Given the description of an element on the screen output the (x, y) to click on. 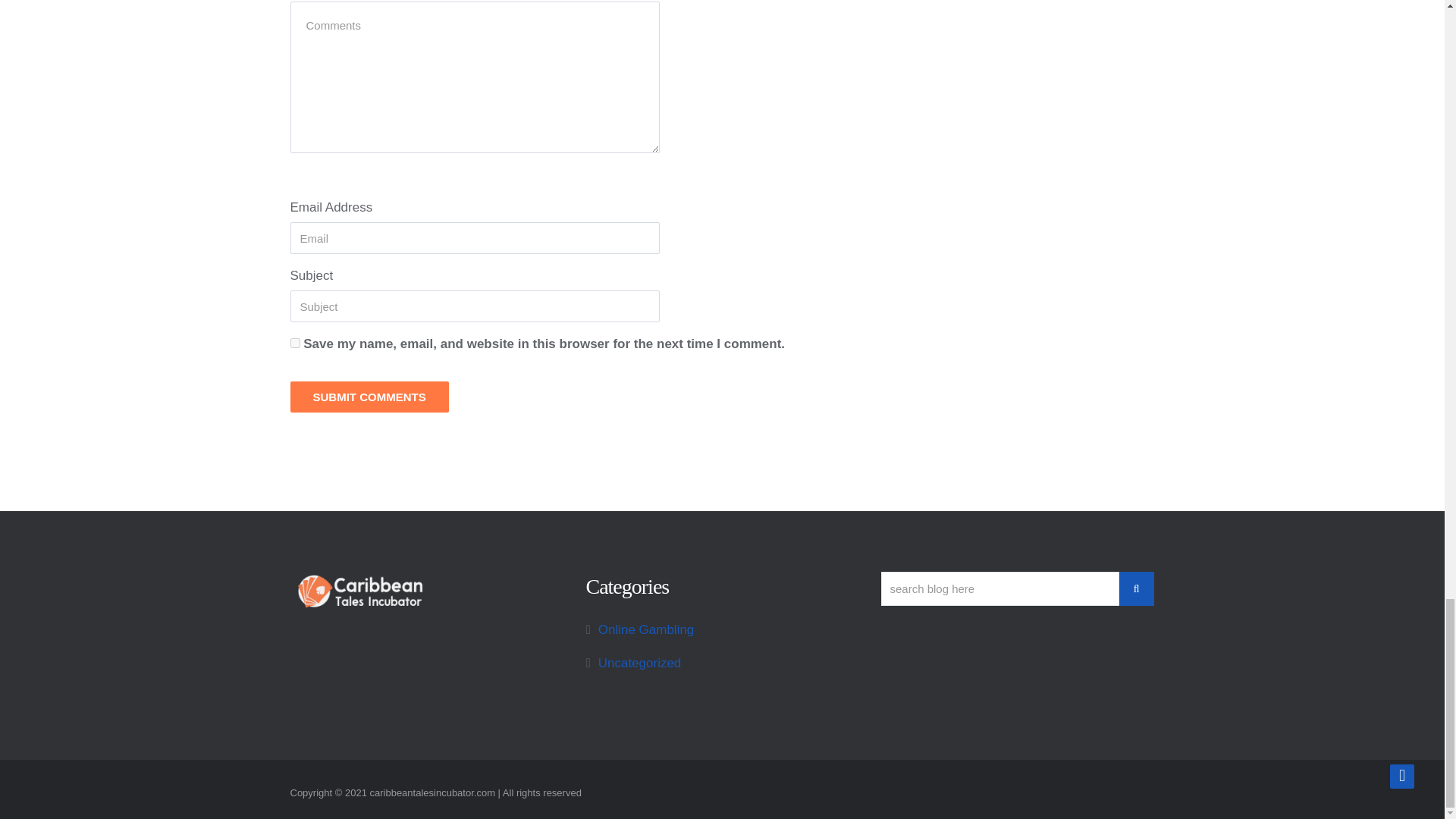
Online Gambling (646, 629)
Submit Comments (368, 396)
Submit Comments (368, 396)
yes (294, 343)
Uncategorized (639, 663)
